Given the description of an element on the screen output the (x, y) to click on. 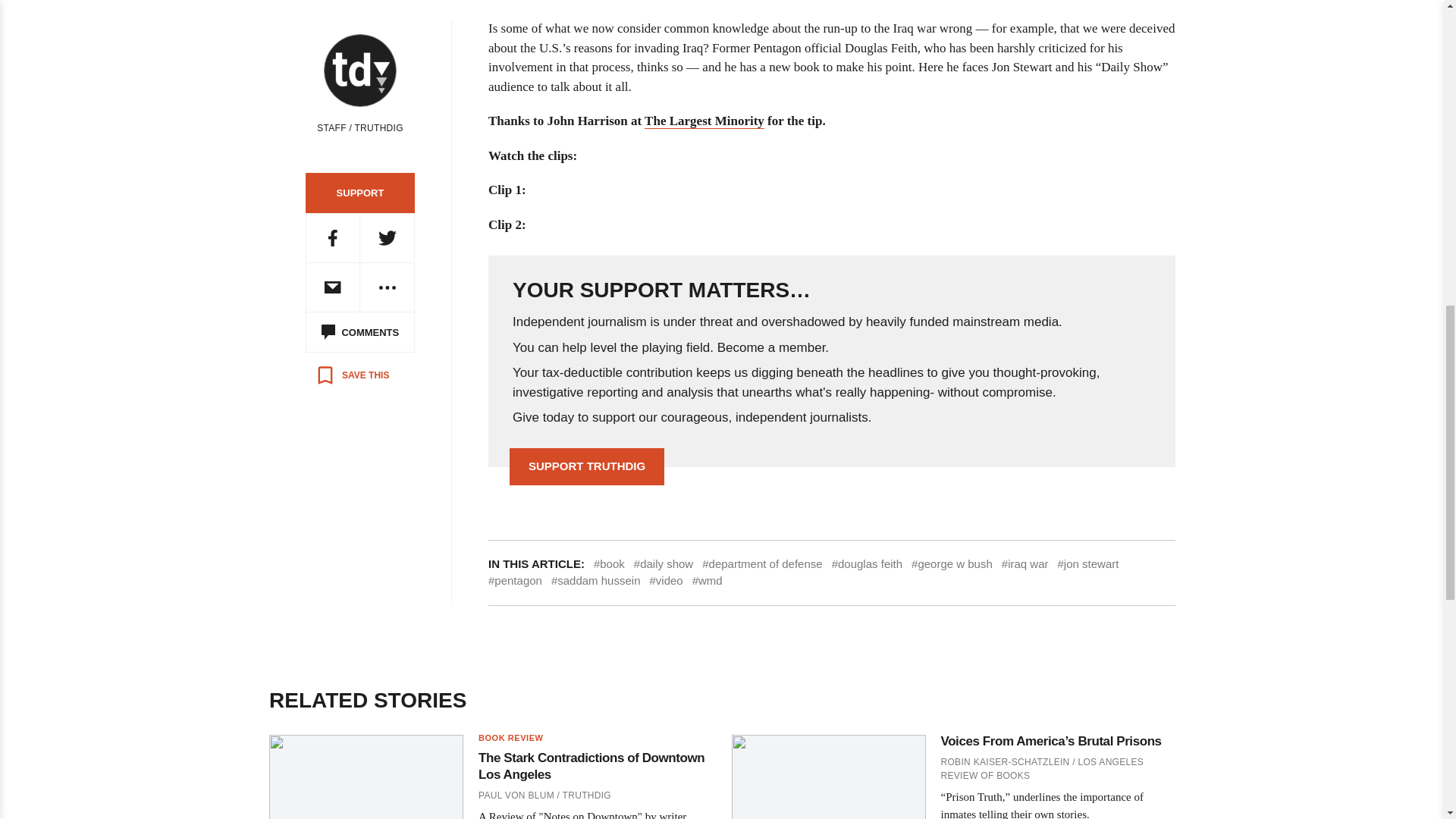
The Largest Minority (704, 120)
Save to read later (351, 375)
